Given the description of an element on the screen output the (x, y) to click on. 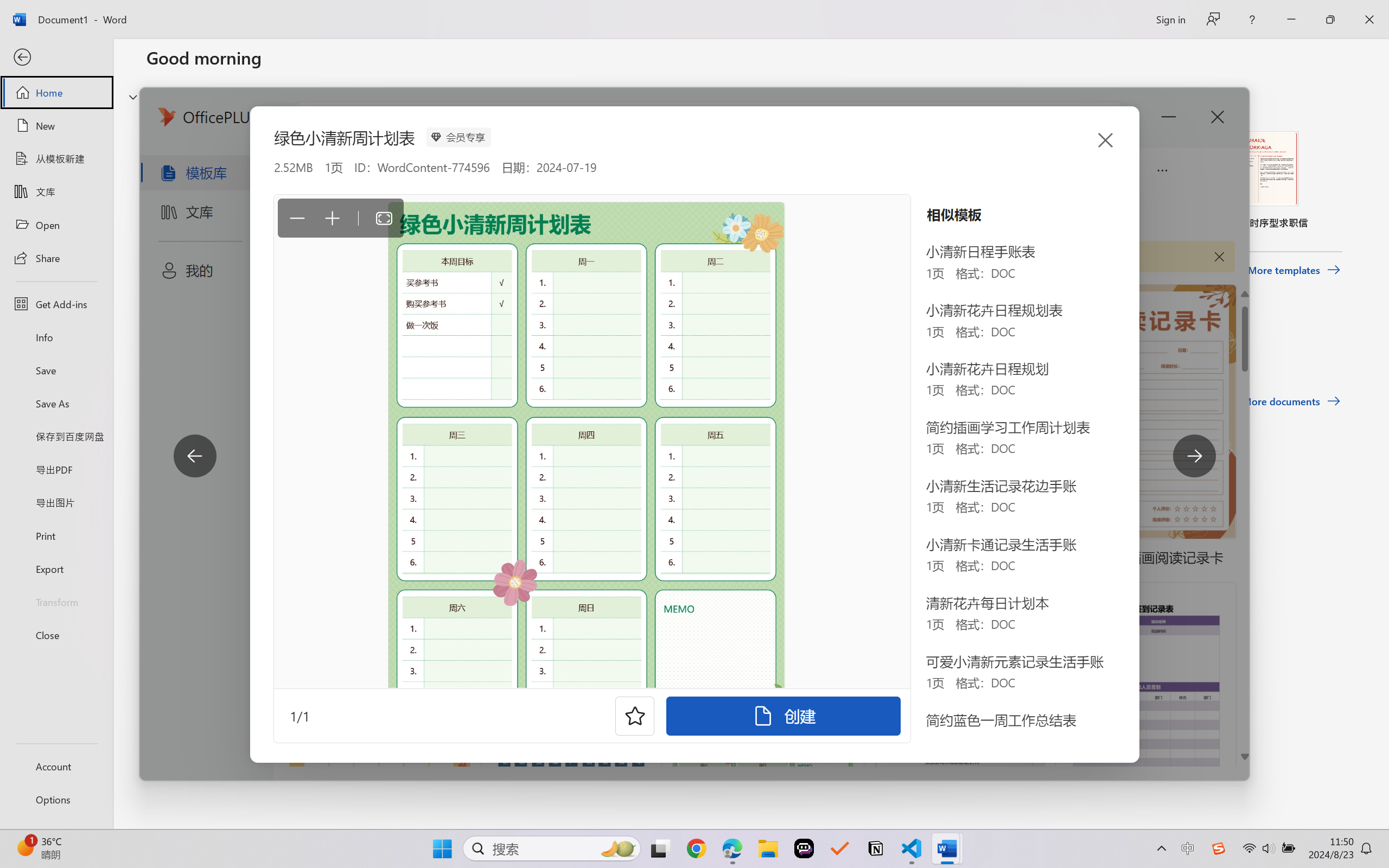
Who is my administrator? - Google Account Help (276, 12)
